Given the description of an element on the screen output the (x, y) to click on. 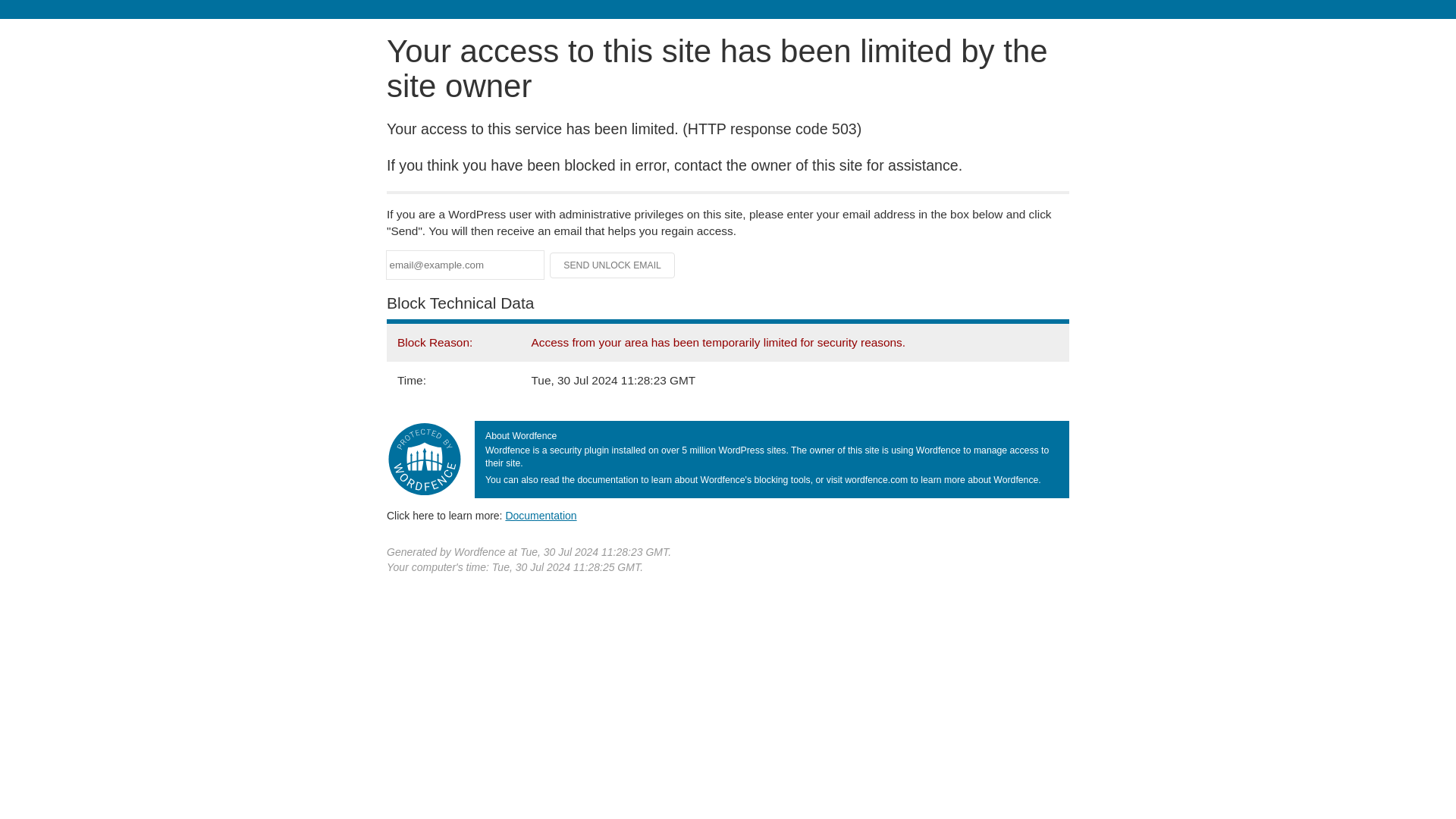
Send Unlock Email (612, 265)
Documentation (540, 515)
Send Unlock Email (612, 265)
